Given the description of an element on the screen output the (x, y) to click on. 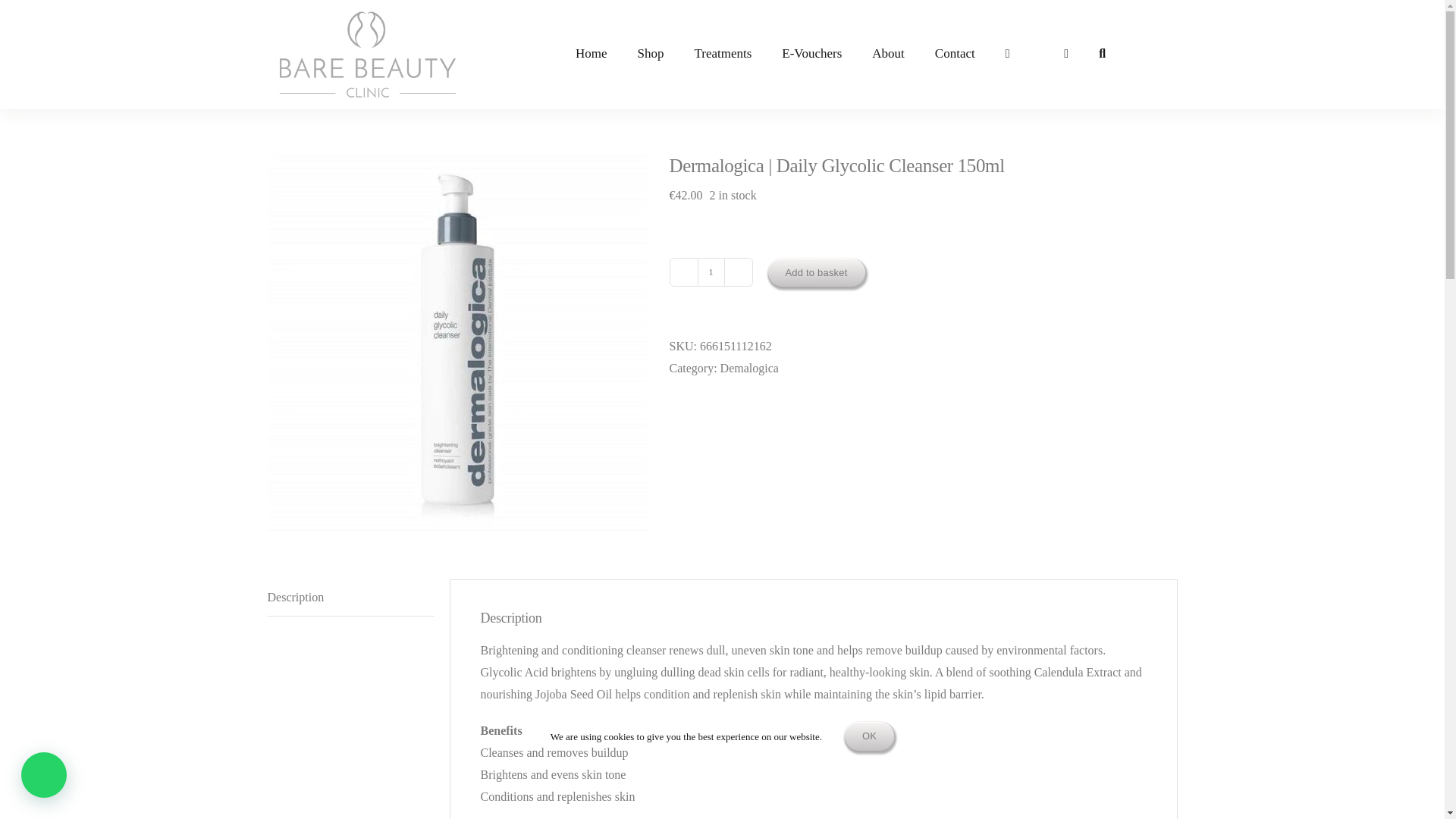
Treatments (722, 54)
Shop (649, 54)
E-Vouchers (812, 54)
About (888, 54)
Contact (955, 54)
Home (591, 54)
1 (711, 271)
